Given the description of an element on the screen output the (x, y) to click on. 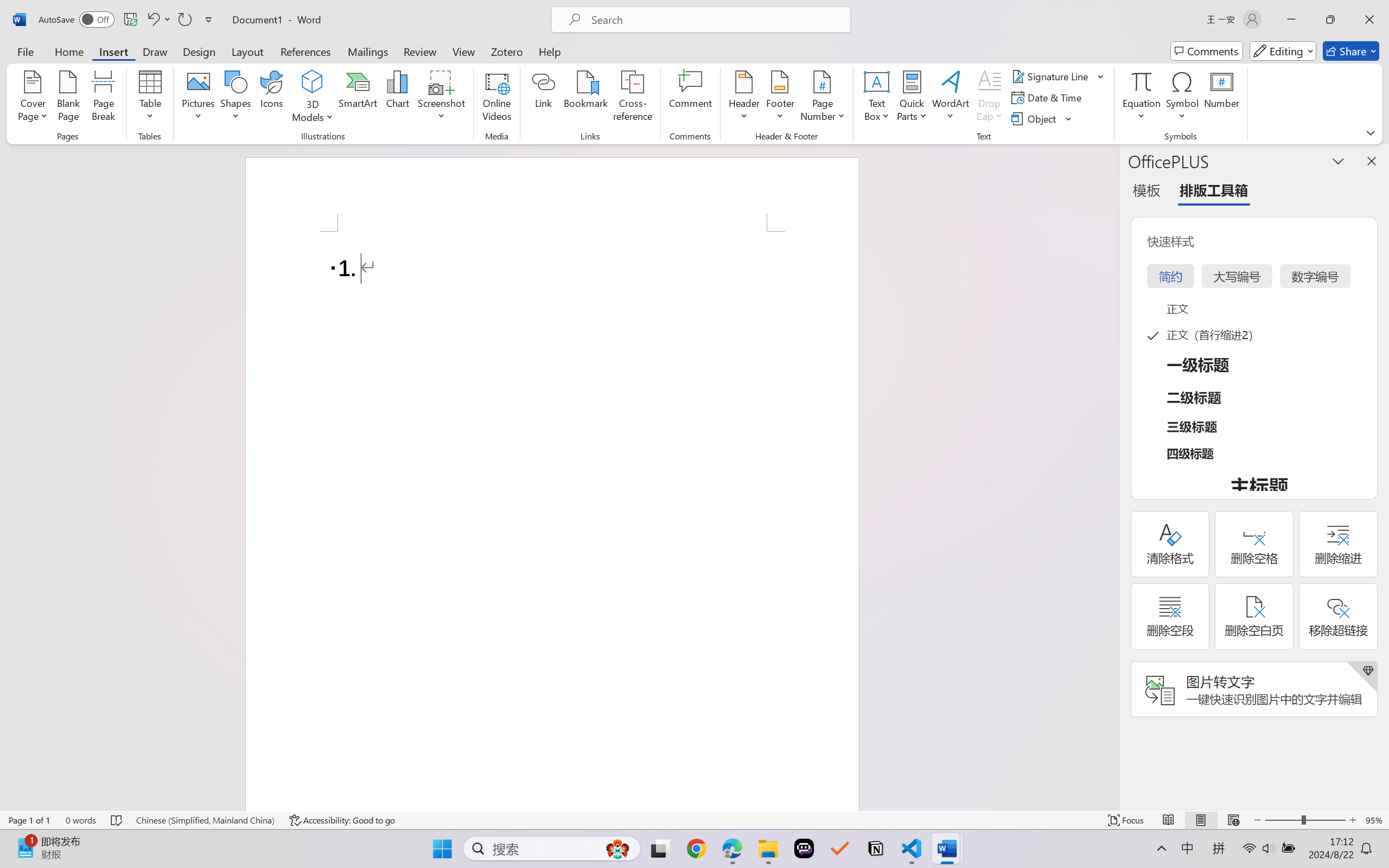
Undo Number Default (152, 19)
WordArt (950, 97)
Signature Line (1058, 75)
Signature Line (1051, 75)
Quick Parts (912, 97)
Comment (689, 97)
Object... (1042, 118)
